Given the description of an element on the screen output the (x, y) to click on. 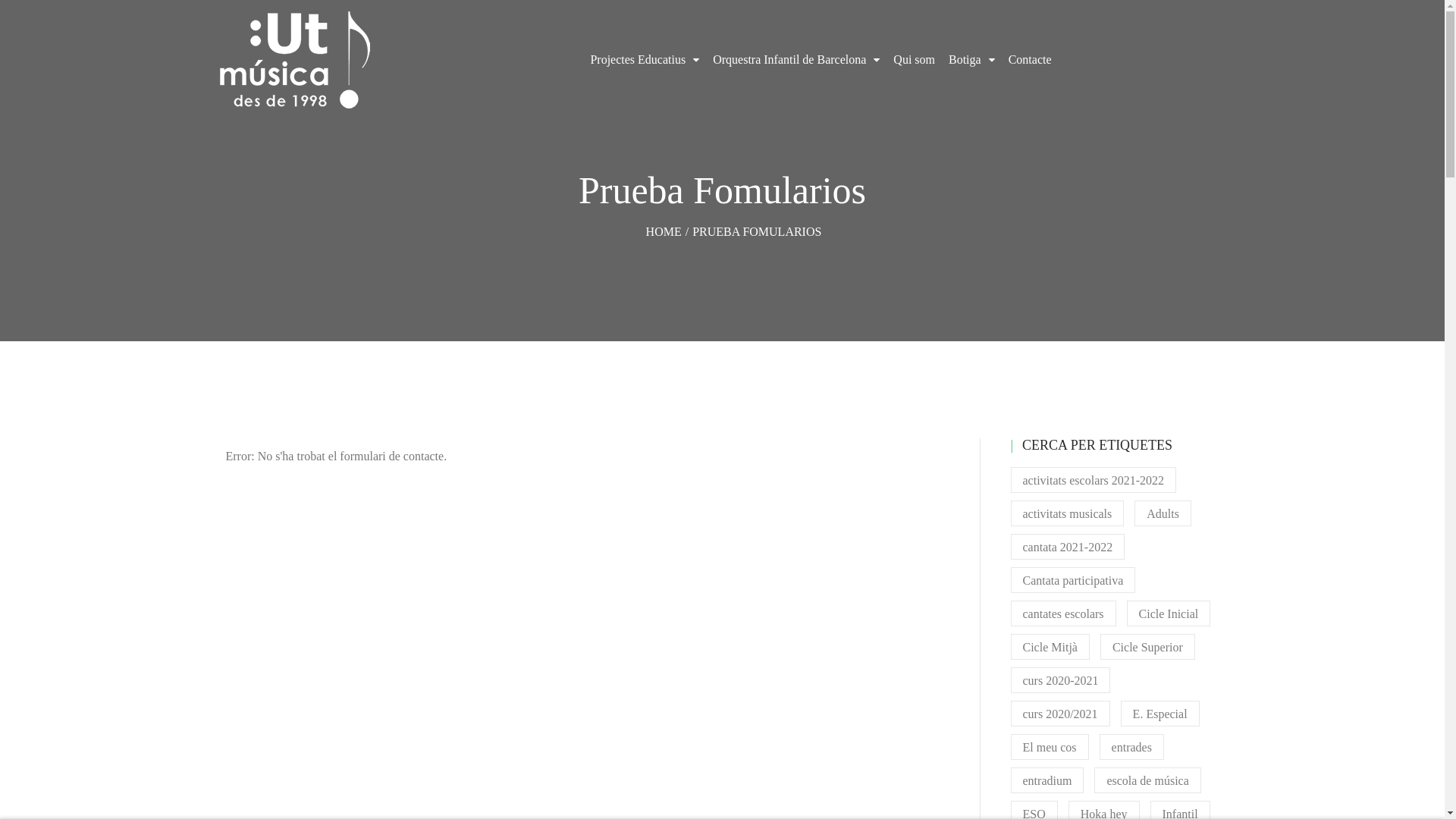
cantata 2021-2022 Element type: text (1067, 546)
Qui som Element type: text (914, 59)
curs 2020/2021 Element type: text (1059, 713)
entrades Element type: text (1131, 746)
activitats escolars 2021-2022 Element type: text (1093, 479)
cantates escolars Element type: text (1062, 613)
Botiga Element type: text (971, 59)
Projectes Educatius Element type: text (644, 59)
Adults Element type: text (1162, 513)
Contacte Element type: text (1030, 59)
Cantata participativa Element type: text (1072, 580)
E. Especial Element type: text (1159, 713)
HOME Element type: text (663, 230)
Cicle Inicial Element type: text (1168, 613)
Cicle Superior Element type: text (1147, 646)
entradium Element type: text (1046, 780)
activitats musicals Element type: text (1066, 513)
El meu cos Element type: text (1049, 746)
curs 2020-2021 Element type: text (1060, 680)
Orquestra Infantil de Barcelona Element type: text (795, 59)
